Given the description of an element on the screen output the (x, y) to click on. 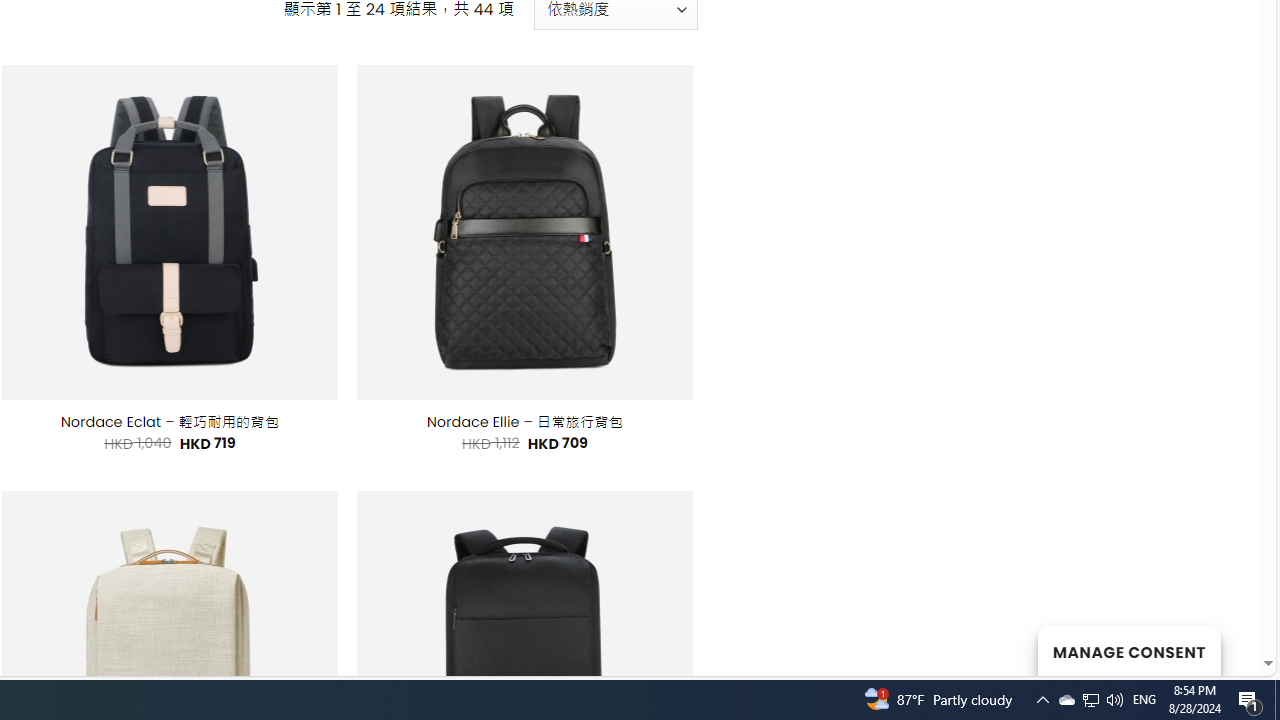
MANAGE CONSENT (1128, 650)
